Given the description of an element on the screen output the (x, y) to click on. 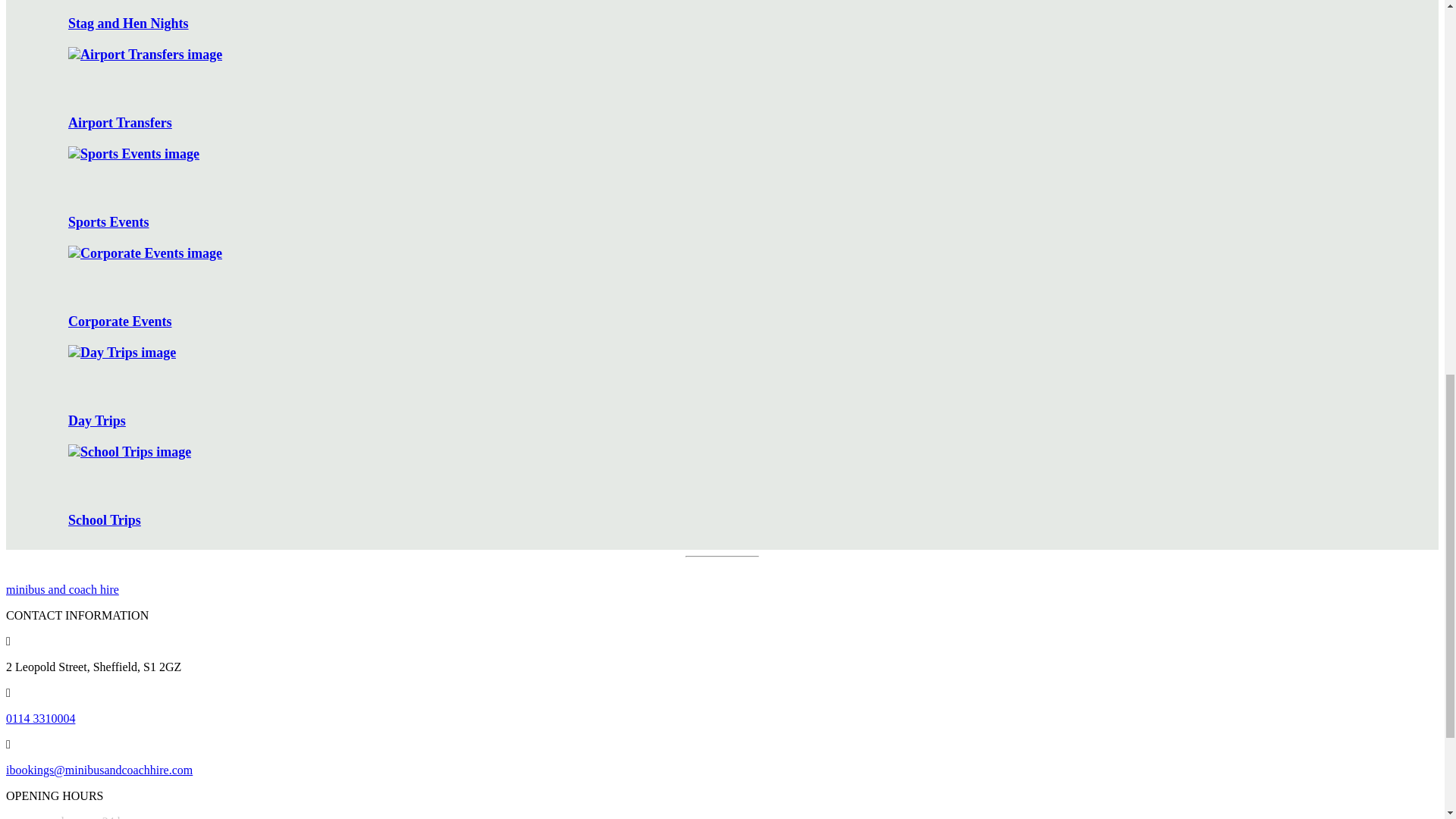
School Trips (737, 486)
Corporate Events (737, 287)
Day Trips (737, 386)
Day Trips image (122, 352)
Airport Transfers (737, 88)
School Trips image (129, 452)
Sports Events image (133, 154)
Corporate Events image (145, 253)
Airport Transfers image (145, 54)
Stag and Hen Nights (737, 15)
Sports Events (737, 188)
0114 3310004 (40, 717)
minibus and coach hire (62, 589)
